Given the description of an element on the screen output the (x, y) to click on. 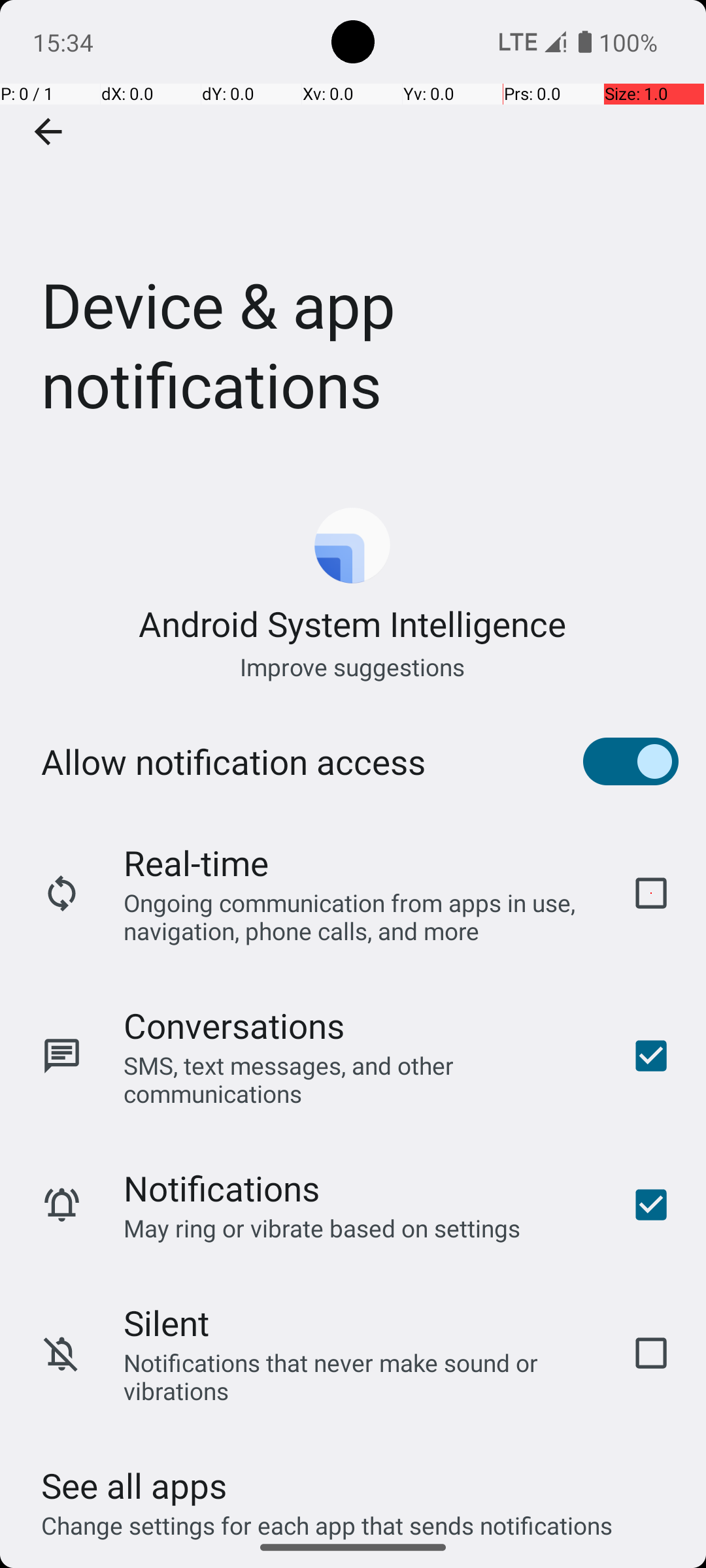
Android System Intelligence Element type: android.widget.TextView (352, 623)
Improve suggestions Element type: android.widget.TextView (352, 666)
Allow notification access Element type: android.widget.TextView (233, 761)
Real-time Element type: android.widget.TextView (195, 862)
Ongoing communication from apps in use, navigation, phone calls, and more Element type: android.widget.TextView (359, 916)
SMS, text messages, and other communications Element type: android.widget.TextView (359, 1079)
May ring or vibrate based on settings Element type: android.widget.TextView (322, 1227)
Silent Element type: android.widget.TextView (166, 1322)
Notifications that never make sound or vibrations Element type: android.widget.TextView (359, 1376)
See all apps Element type: android.widget.TextView (133, 1485)
Change settings for each app that sends notifications Element type: android.widget.TextView (326, 1517)
